Given the description of an element on the screen output the (x, y) to click on. 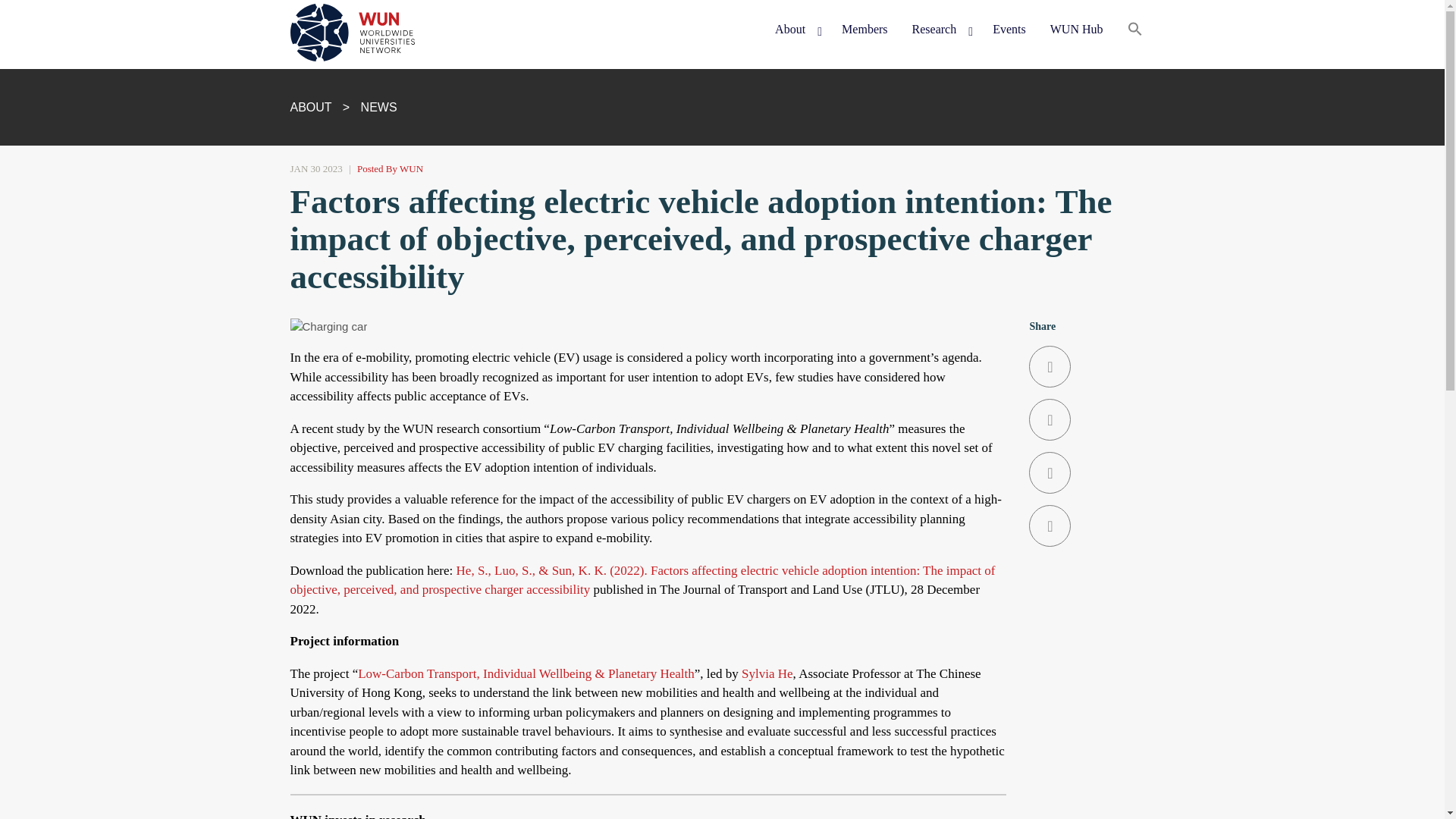
WUN (318, 83)
Research (940, 29)
Events (1008, 29)
Share by Email (1091, 526)
WUN Hub (1076, 29)
Members (864, 29)
About (795, 29)
